Given the description of an element on the screen output the (x, y) to click on. 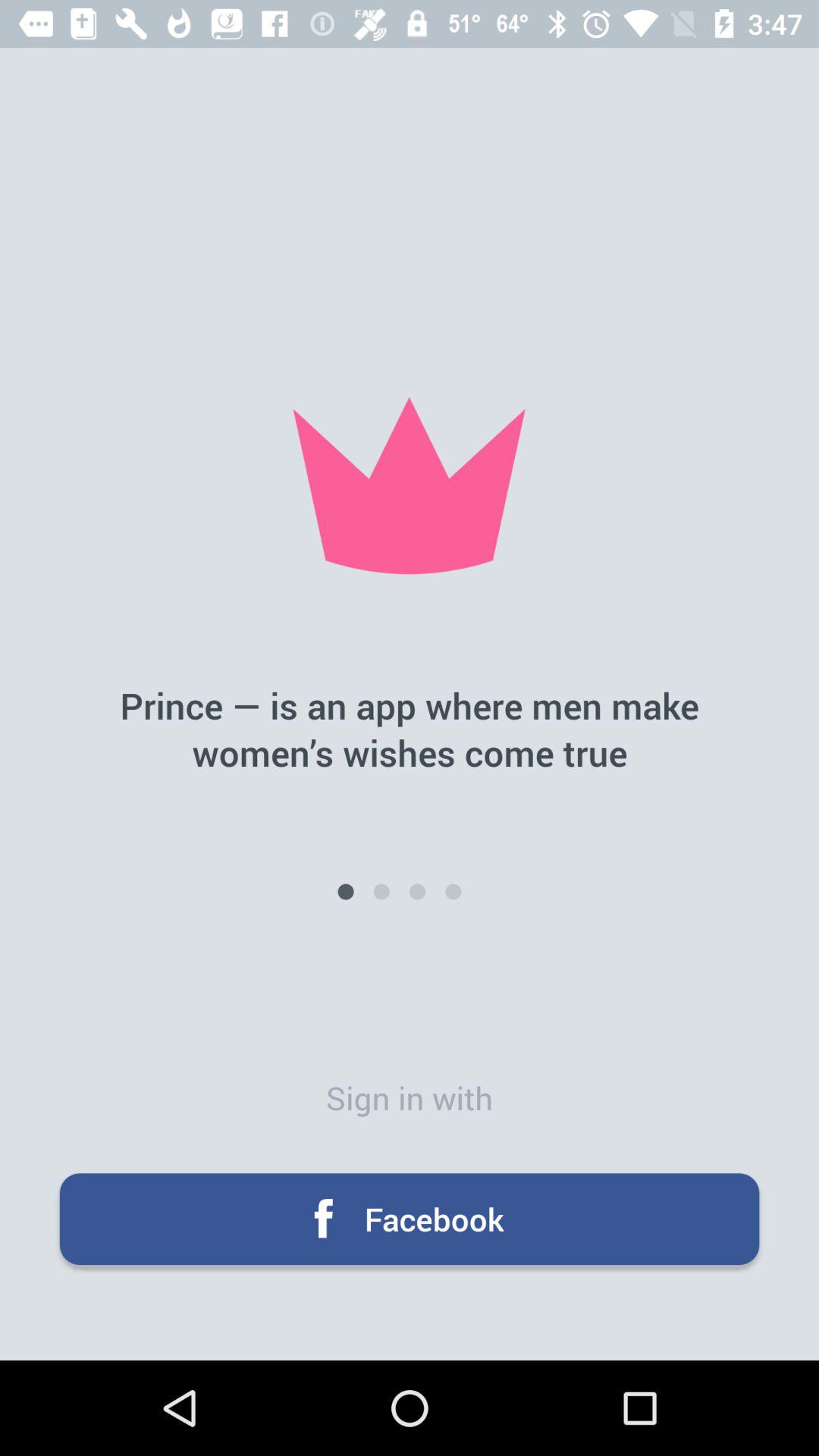
launch the icon below the prince is an icon (345, 891)
